Given the description of an element on the screen output the (x, y) to click on. 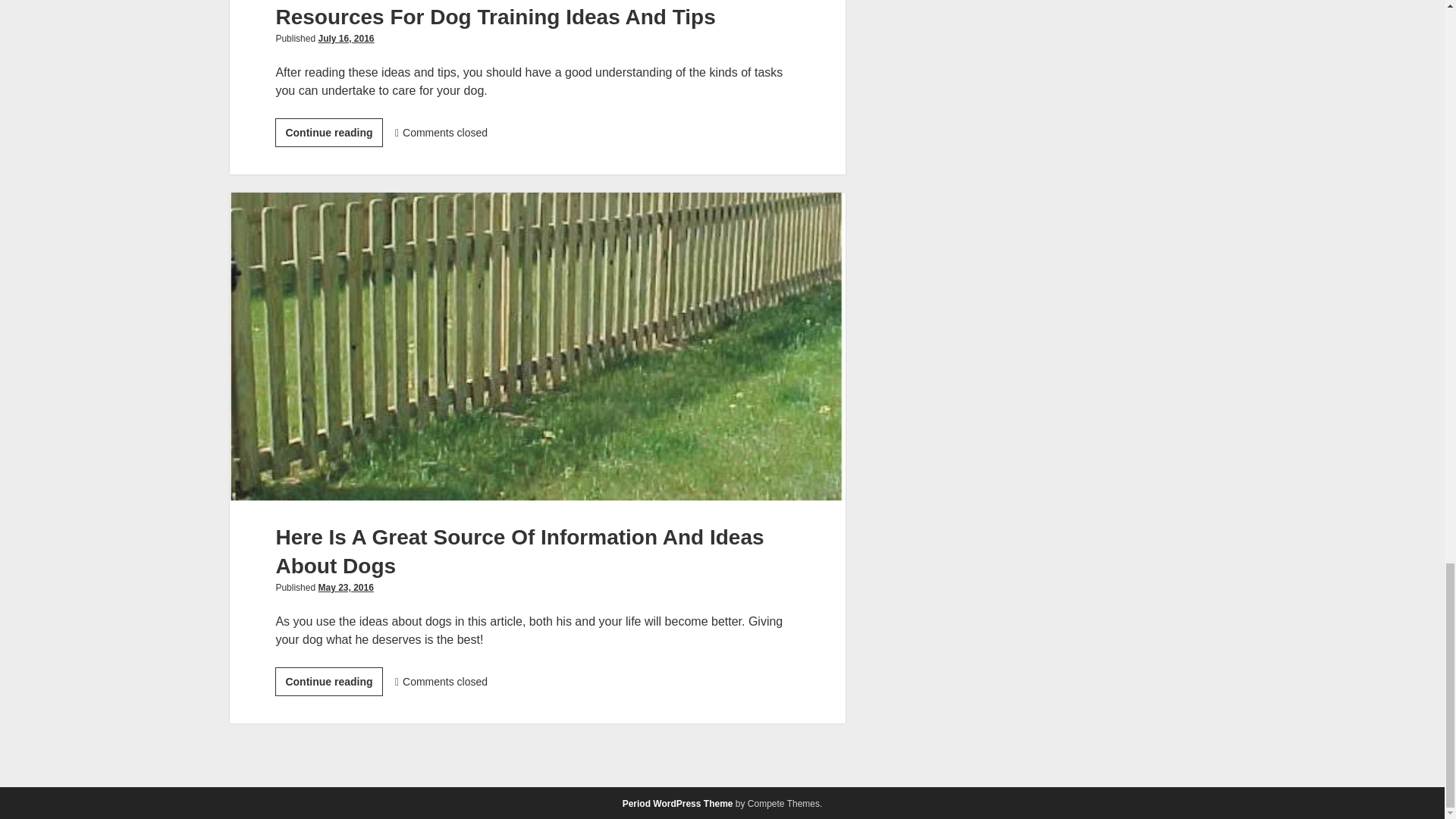
Here Is A Great Source Of Information And Ideas About Dogs (518, 551)
Here Is A Great Source Of Information And Ideas About Dogs (328, 132)
Period WordPress Theme (345, 38)
May 23, 2016 (678, 803)
Resources For Dog Training Ideas And Tips (344, 587)
